Given the description of an element on the screen output the (x, y) to click on. 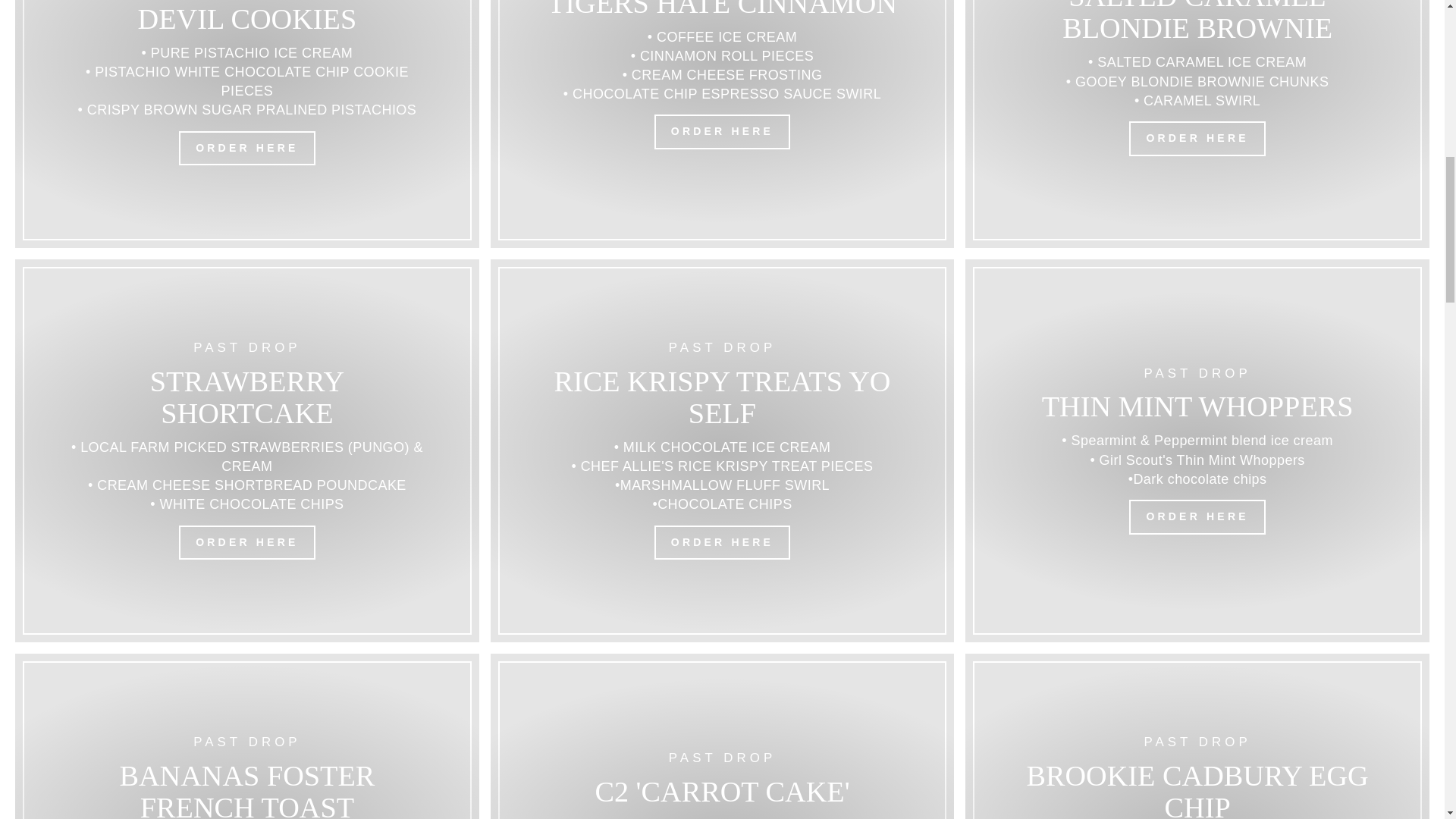
ORDER HERE (721, 542)
ORDER HERE (246, 542)
ORDER HERE (246, 148)
ORDER HERE (1197, 516)
ORDER HERE (1197, 138)
ORDER HERE (721, 131)
